Given the description of an element on the screen output the (x, y) to click on. 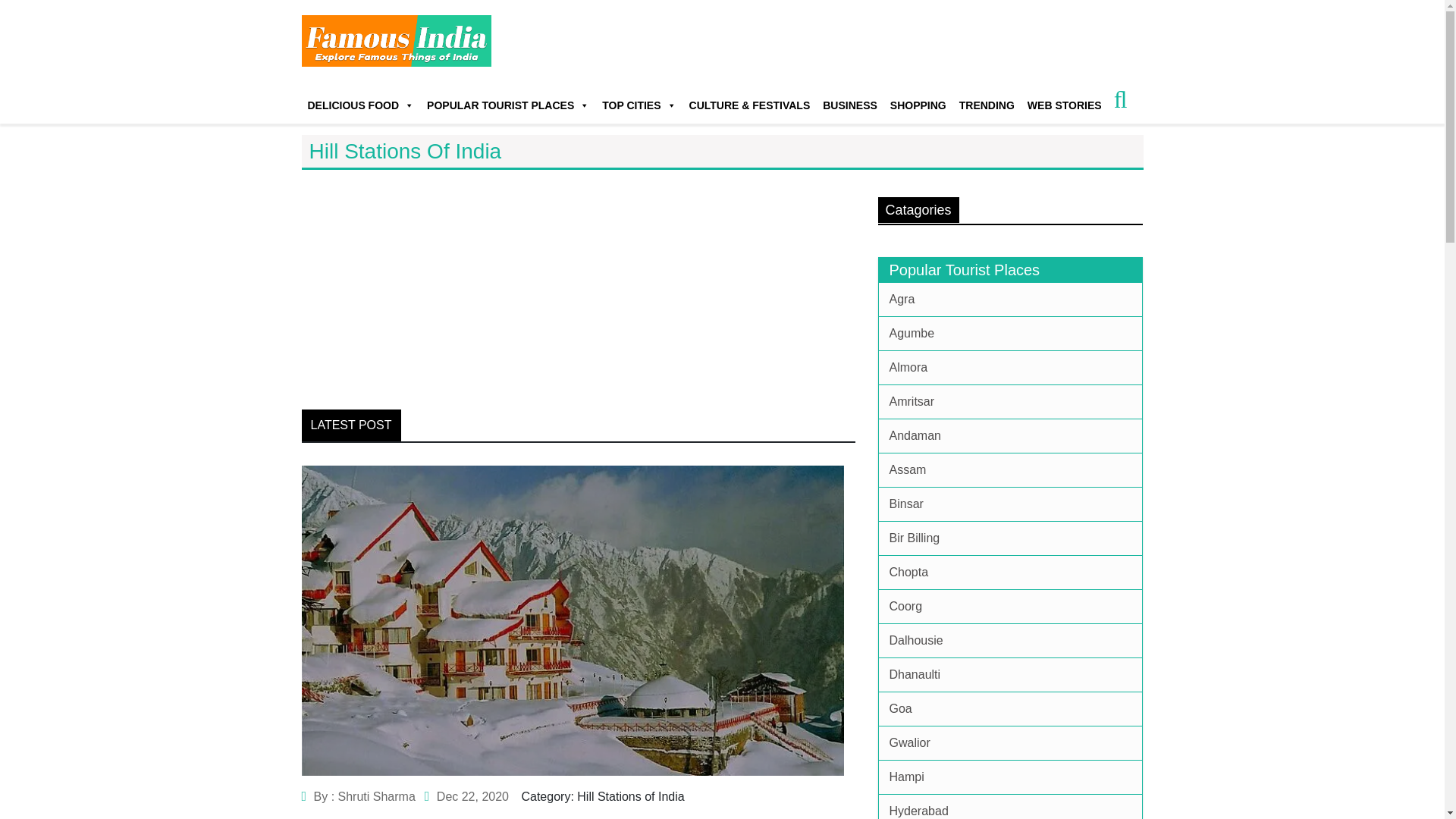
POPULAR TOURIST PLACES (507, 99)
TOP CITIES (638, 99)
logo (396, 40)
DELICIOUS FOOD (360, 99)
Advertisement (578, 282)
